Given the description of an element on the screen output the (x, y) to click on. 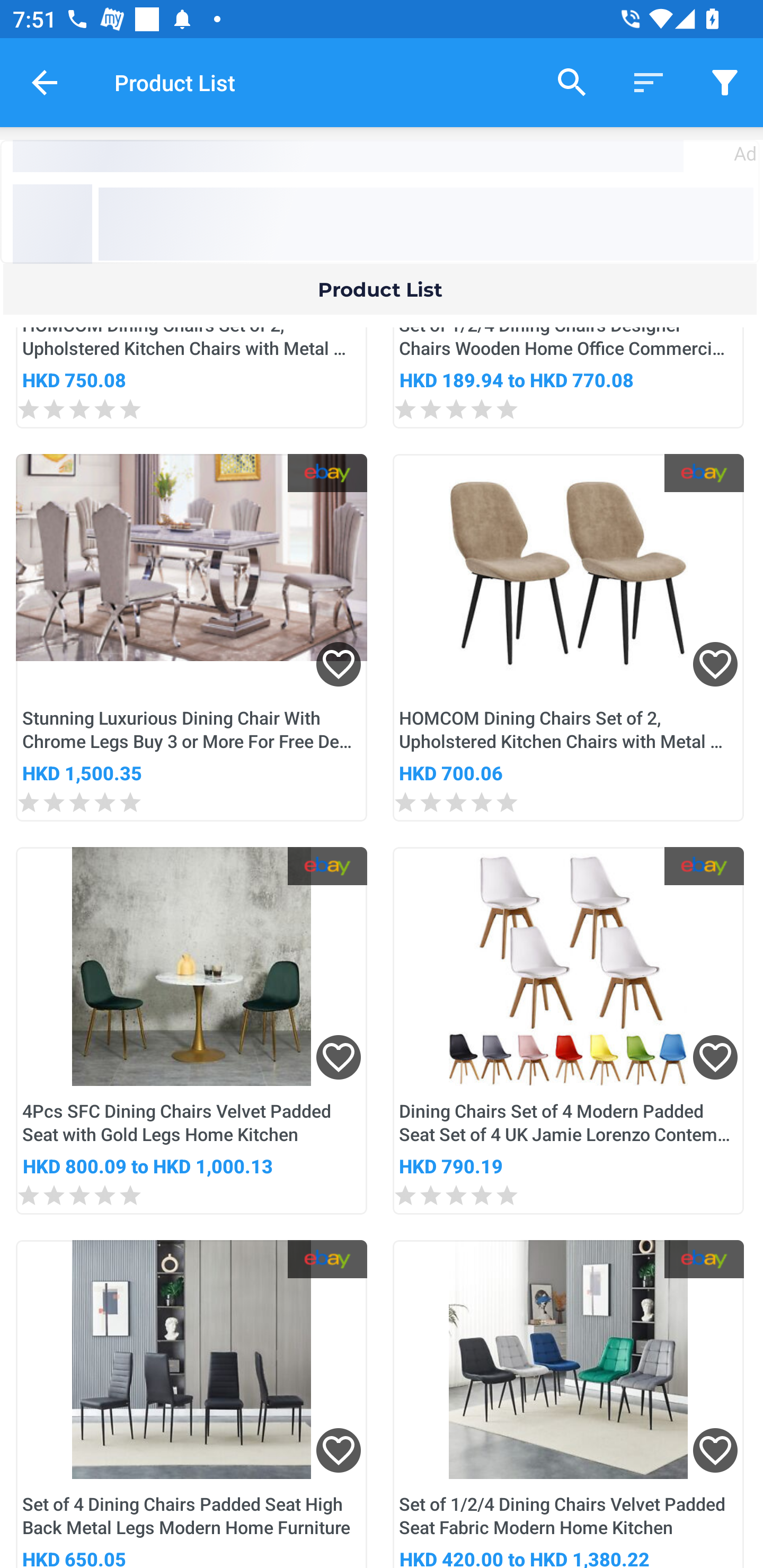
Navigate up (44, 82)
Search (572, 81)
short (648, 81)
short (724, 81)
